Given the description of an element on the screen output the (x, y) to click on. 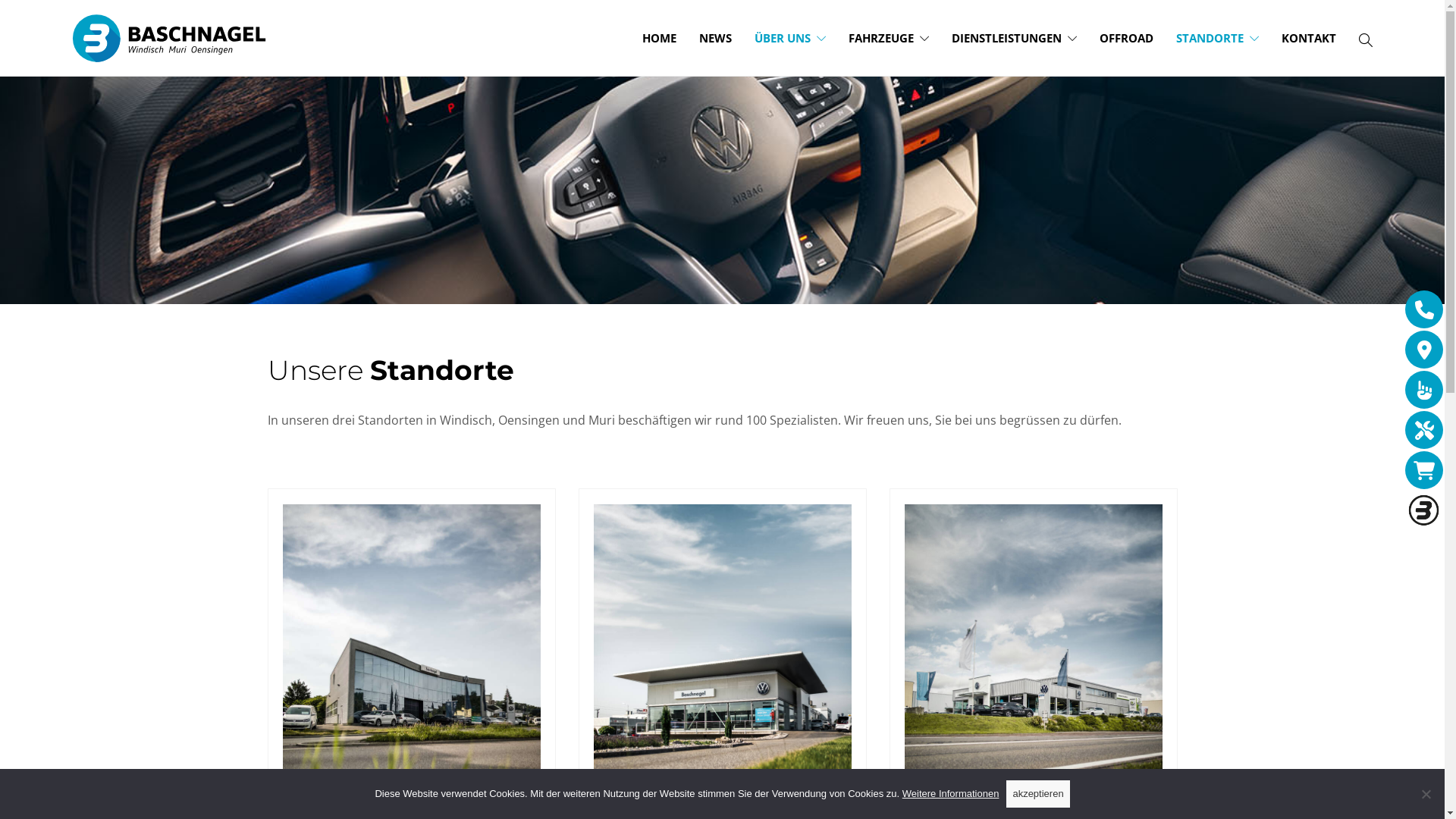
OFFROAD Element type: text (1126, 37)
Weitere Informationen Element type: text (950, 793)
NEWS Element type: text (715, 37)
akzeptieren Element type: text (1037, 793)
STANDORTE Element type: text (1217, 37)
HOME Element type: text (659, 37)
FAHRZEUGE Element type: text (888, 37)
DIENSTLEISTUNGEN Element type: text (1013, 37)
Nein Element type: hover (1425, 793)
KONTAKT Element type: text (1308, 37)
